Given the description of an element on the screen output the (x, y) to click on. 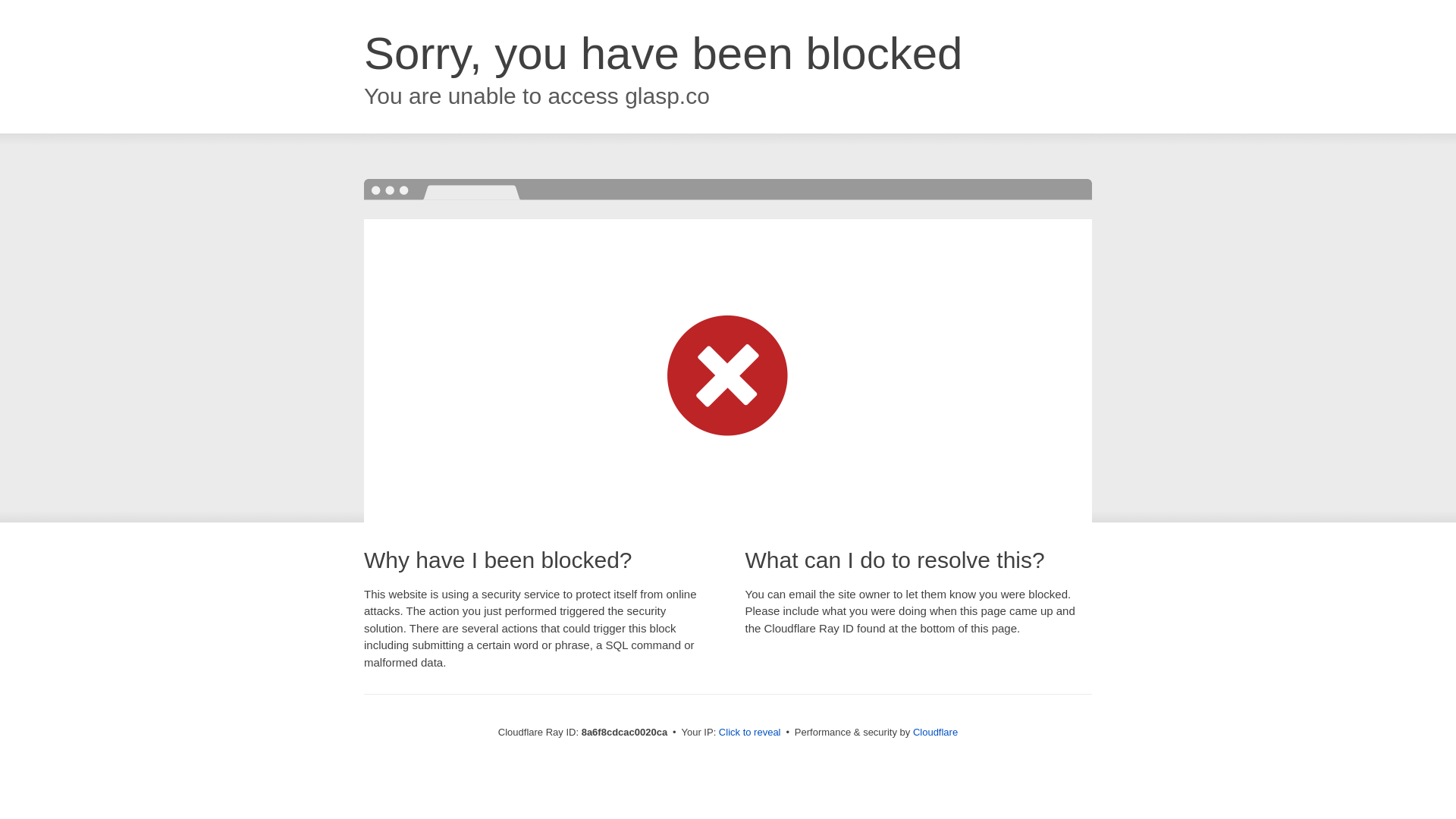
Click to reveal (749, 732)
Cloudflare (935, 731)
